Given the description of an element on the screen output the (x, y) to click on. 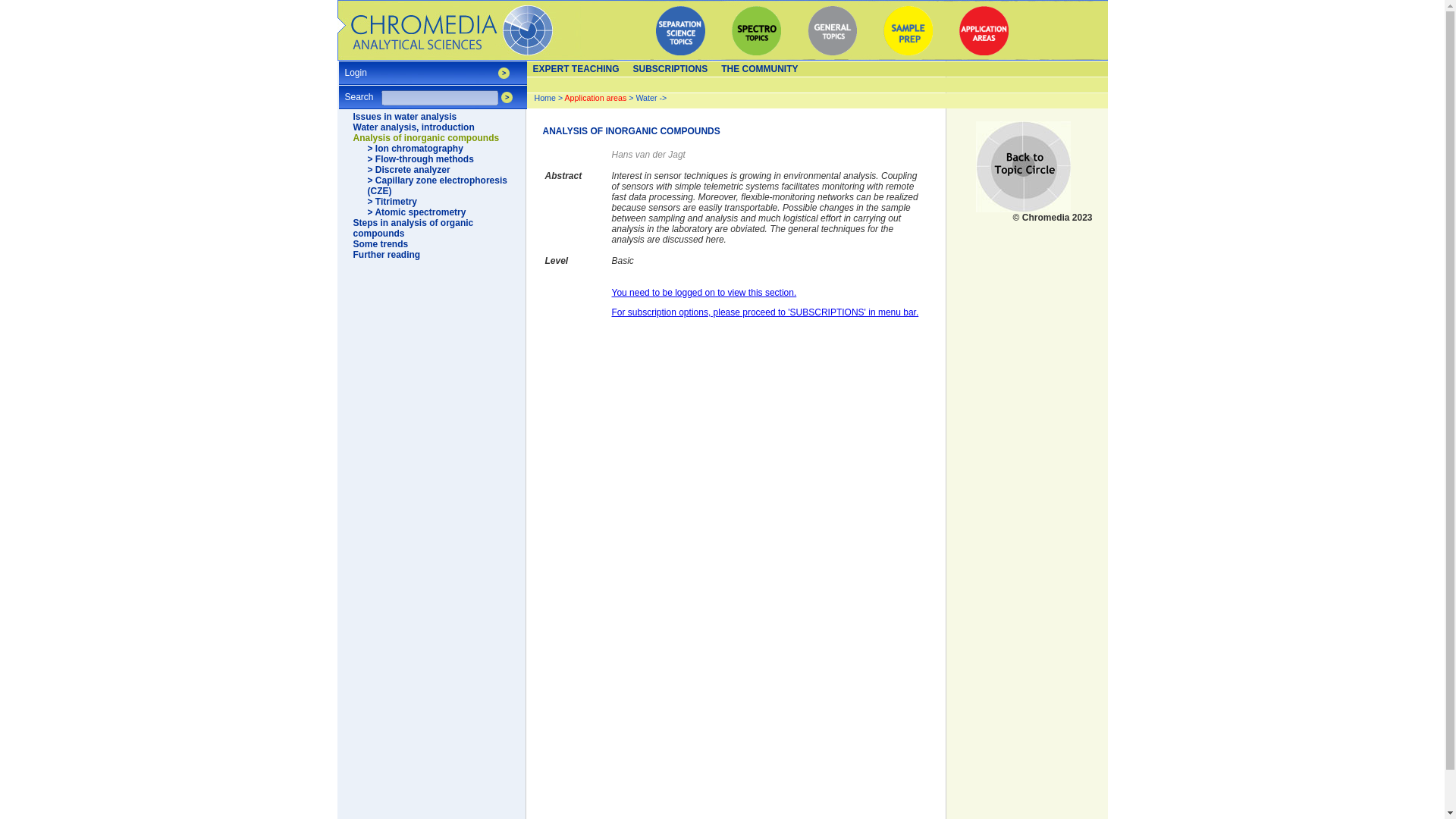
Application areas (596, 97)
THE COMMUNITY (759, 68)
Hans van der Jagt (647, 154)
Water analysis, introduction (413, 127)
Steps in analysis of organic compounds (413, 228)
Home (544, 97)
Click here to go to the Home-page  (446, 30)
Water (645, 97)
Analysis of inorganic compounds (426, 137)
